Given the description of an element on the screen output the (x, y) to click on. 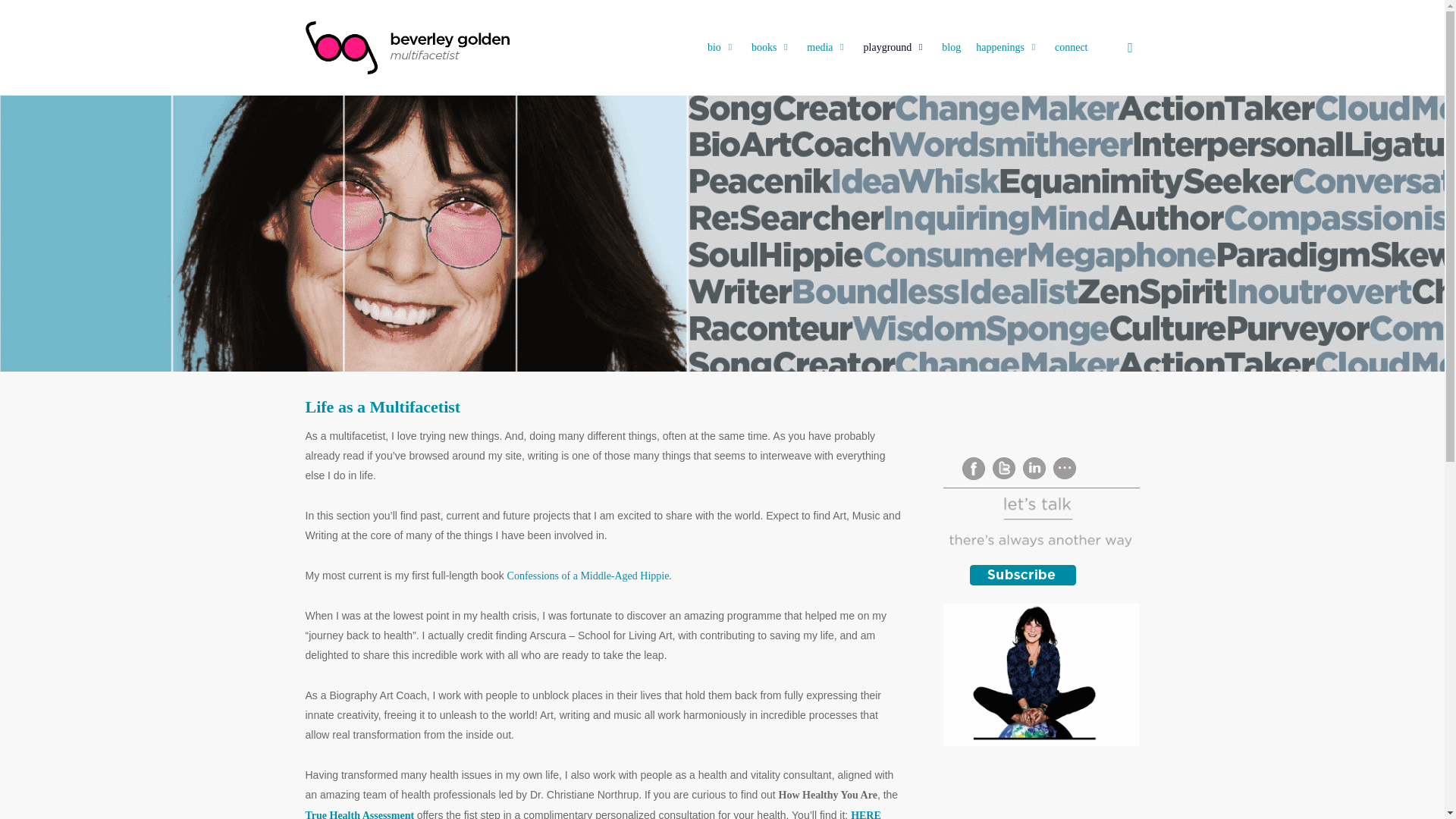
playground (895, 47)
happenings (1007, 47)
media (827, 47)
search (1129, 47)
bio (722, 47)
True Health Assessment (358, 814)
HERE (865, 814)
blog (951, 47)
Confessions of a Middle-Aged Hippie (587, 575)
connect (1071, 47)
books (771, 47)
